Given the description of an element on the screen output the (x, y) to click on. 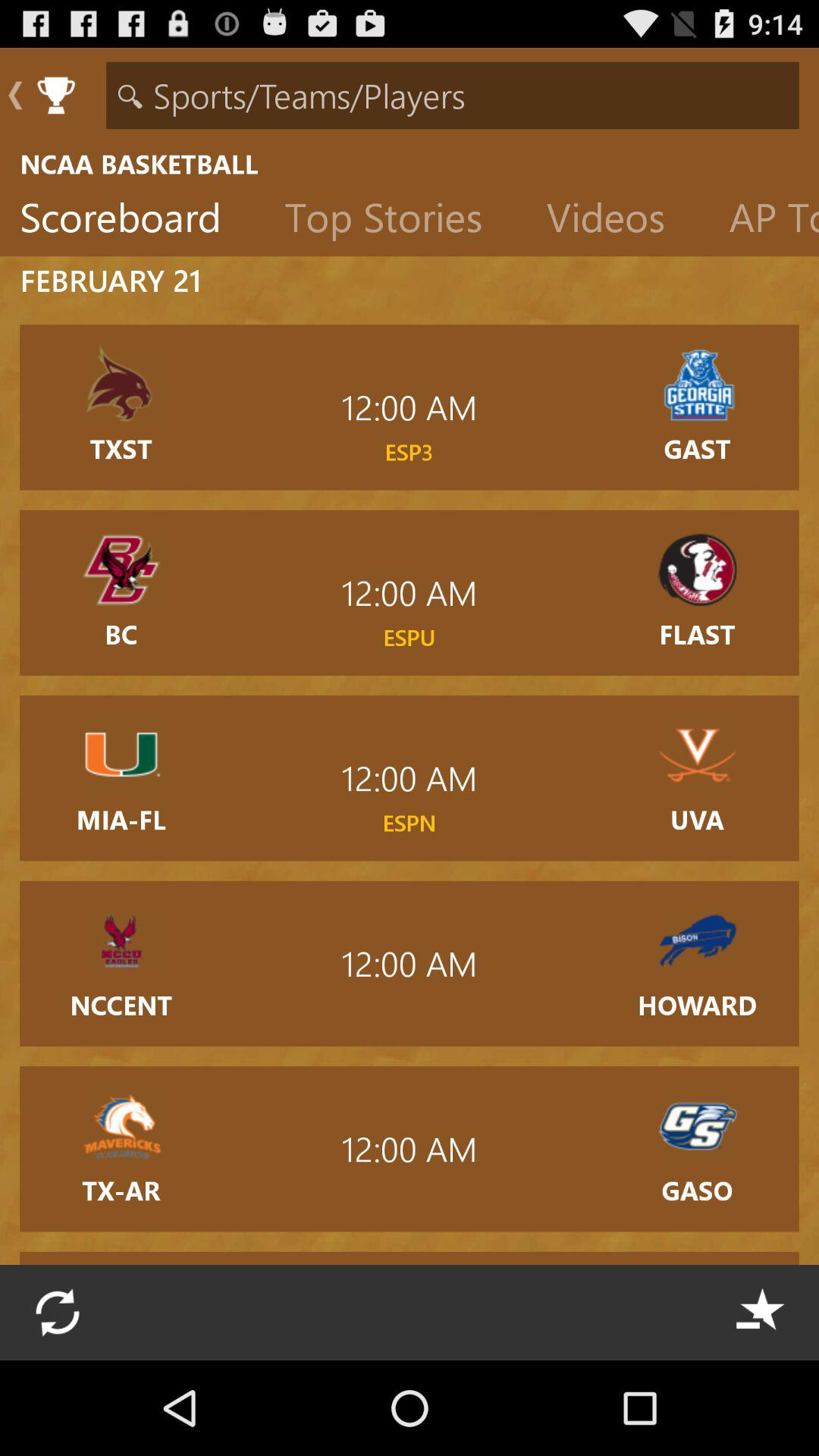
search (452, 95)
